Given the description of an element on the screen output the (x, y) to click on. 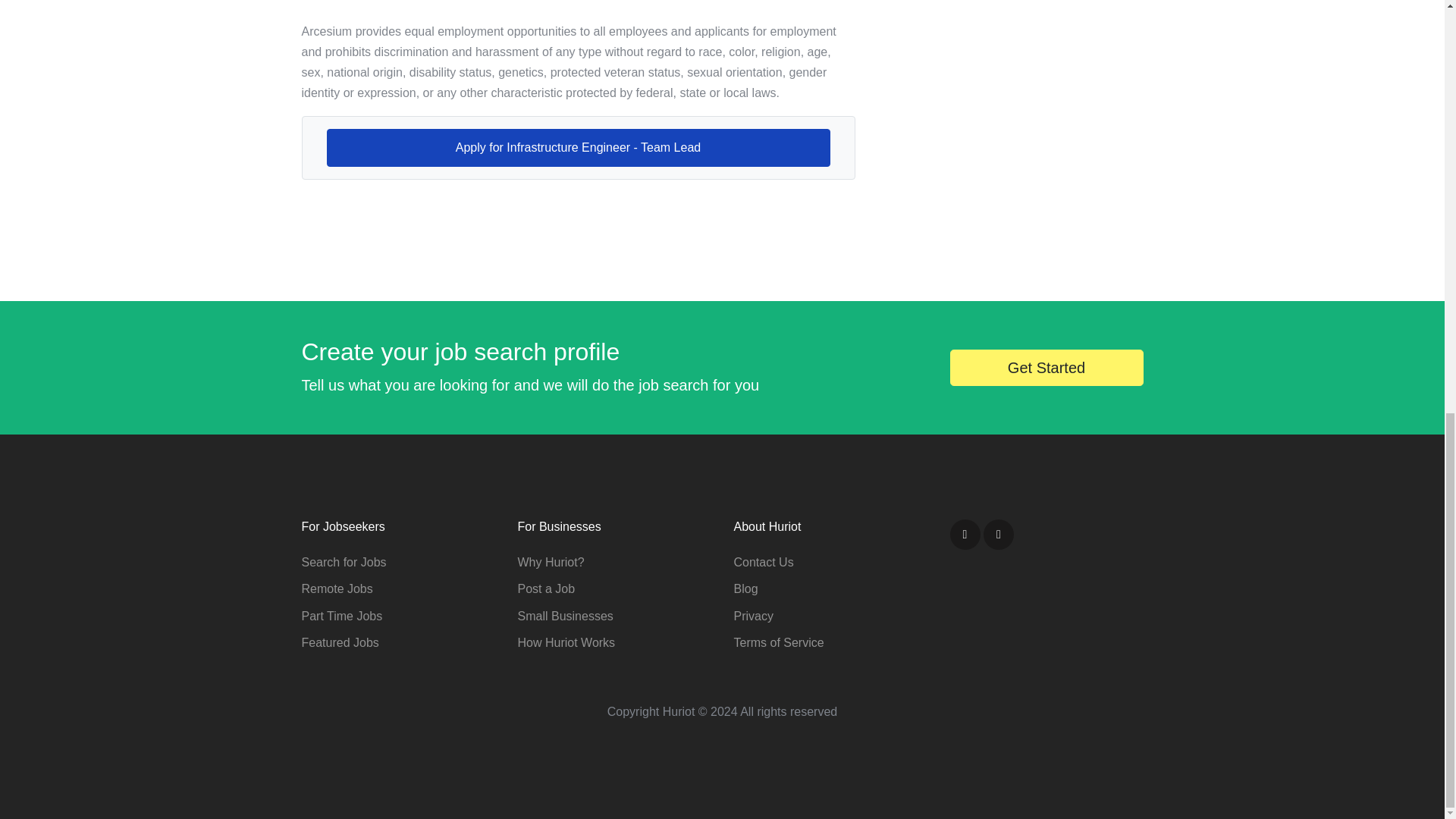
Apply for Infrastructure Engineer - Team Lead (577, 147)
How Huriot Works (565, 642)
Terms of Service (778, 642)
Post a Job (545, 588)
Why Huriot? (549, 562)
Search for Jobs (344, 562)
Privacy (753, 615)
Contact Us (763, 562)
Part Time Jobs (341, 615)
Blog (745, 588)
Remote Jobs (336, 588)
Featured Jobs (339, 642)
Small Businesses (564, 615)
Get Started (1045, 367)
